Given the description of an element on the screen output the (x, y) to click on. 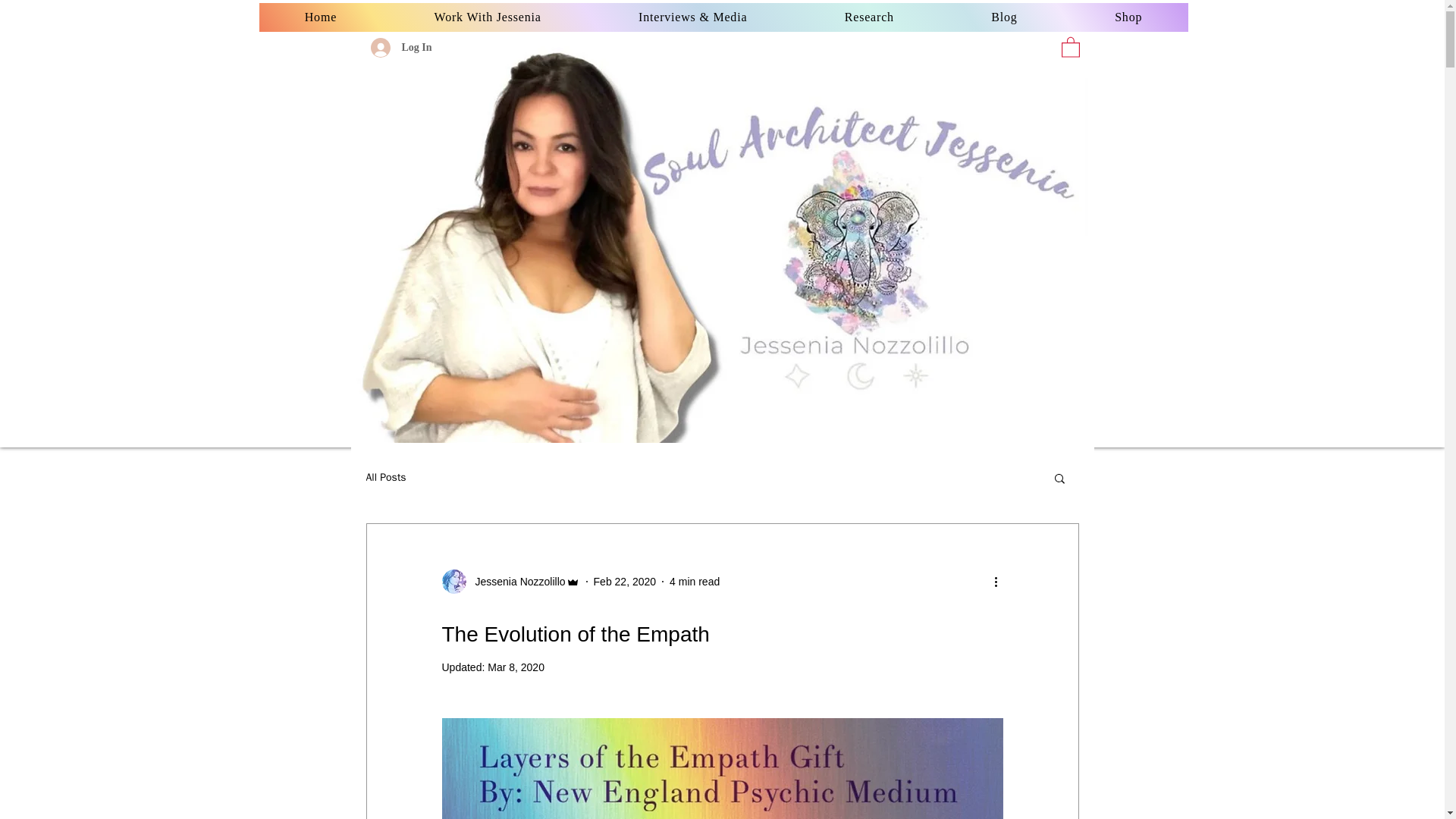
All Posts (385, 477)
Jessenia Nozzolillo (510, 581)
Blog (1003, 17)
Mar 8, 2020 (515, 666)
Feb 22, 2020 (625, 580)
Home (320, 17)
Work With Jessenia (487, 17)
Shop (1128, 17)
Jessenia Nozzolillo (514, 580)
Log In (400, 47)
